Given the description of an element on the screen output the (x, y) to click on. 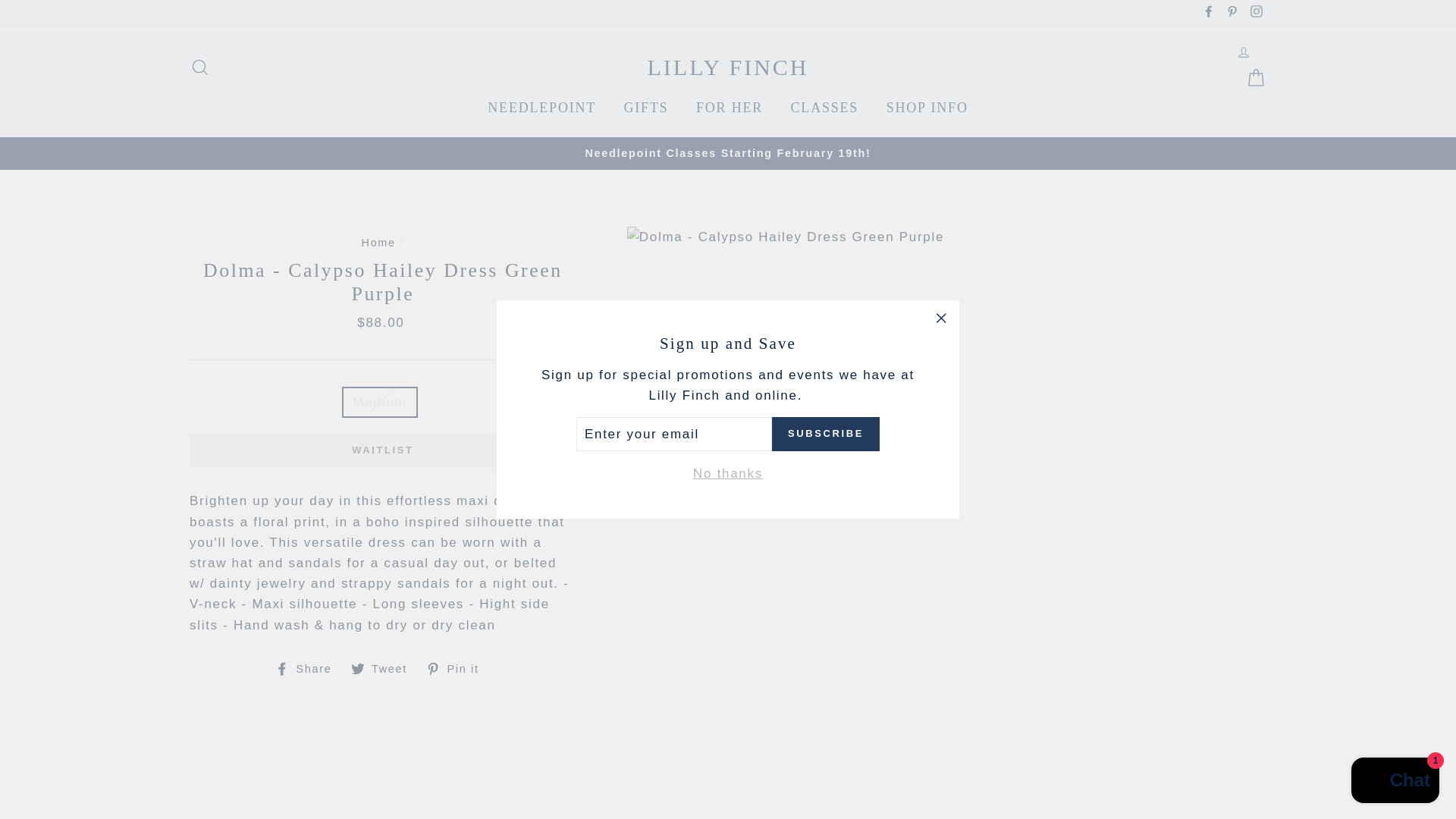
Back to the frontpage (378, 242)
Shopify online store chat (1395, 781)
Pin on Pinterest (458, 668)
Tweet on Twitter (384, 668)
Share on Facebook (308, 668)
